Given the description of an element on the screen output the (x, y) to click on. 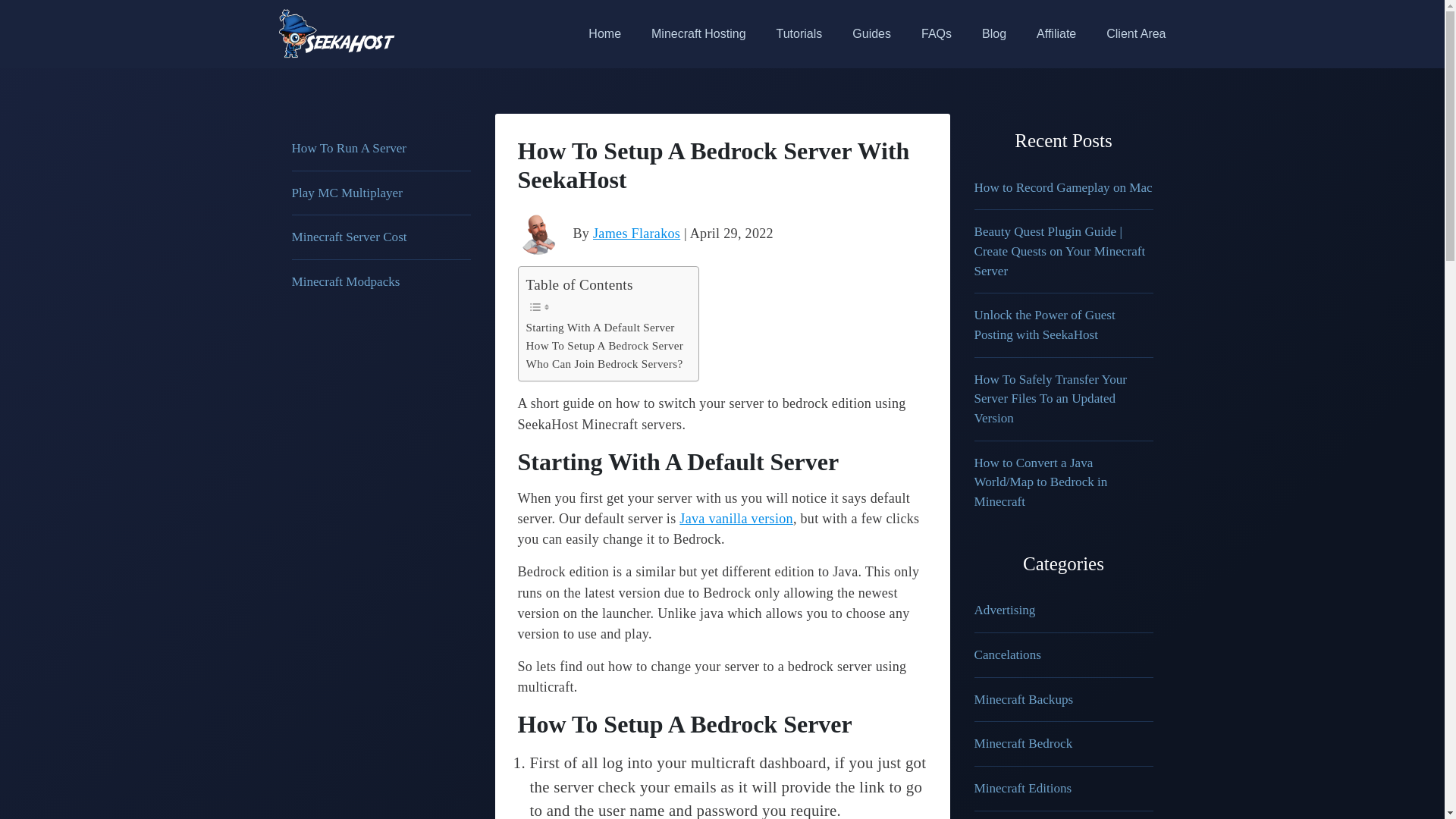
Posts by James Flarakos (635, 233)
Guides (871, 33)
Home (604, 33)
James Flarakos (635, 233)
Client Area (1128, 33)
How To Setup A Bedrock Server (604, 345)
How To Setup A Bedrock Server (604, 345)
Minecraft Server Cost (348, 237)
Who Can Join Bedrock Servers? (603, 363)
How To Run A Server (348, 147)
